Given the description of an element on the screen output the (x, y) to click on. 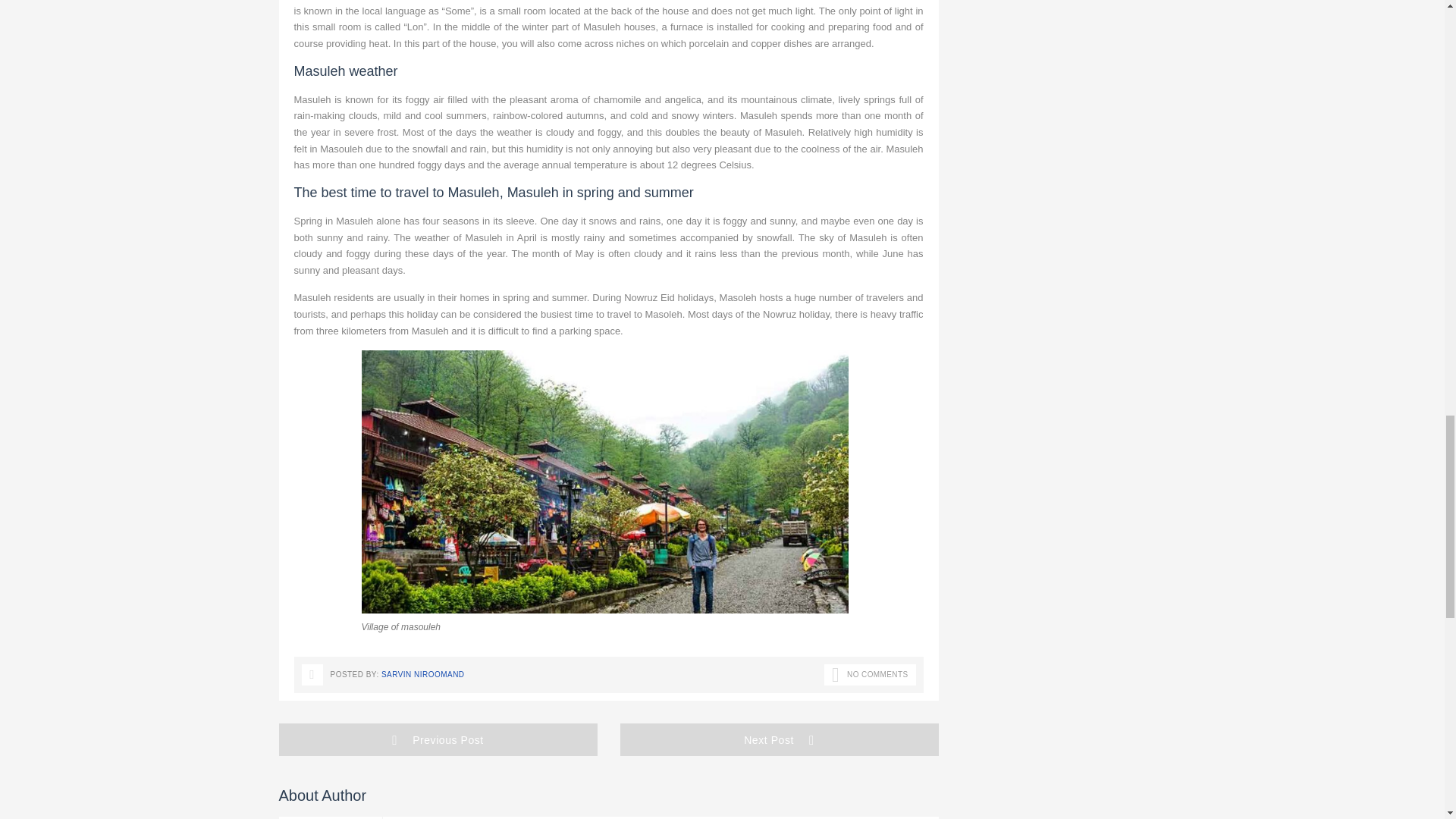
Posts by Sarvin Niroomand (422, 674)
